Given the description of an element on the screen output the (x, y) to click on. 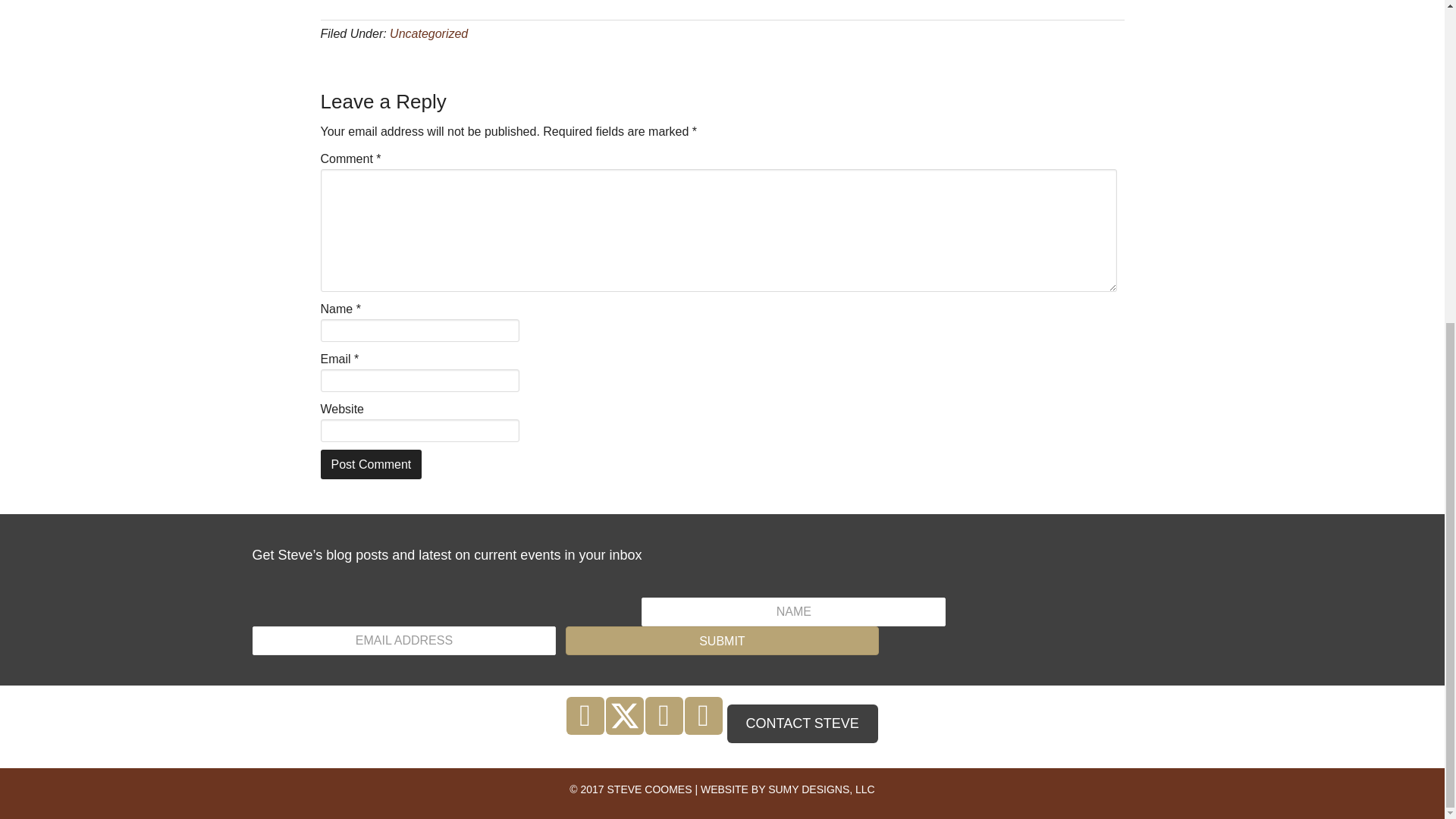
SUBMIT (722, 640)
CONTACT STEVE (801, 723)
Post Comment (371, 463)
Facebook (585, 715)
YouTube (703, 715)
SUMY DESIGNS, LLC (821, 788)
Post Comment (371, 463)
Uncategorized (428, 33)
Instagram (663, 715)
